Given the description of an element on the screen output the (x, y) to click on. 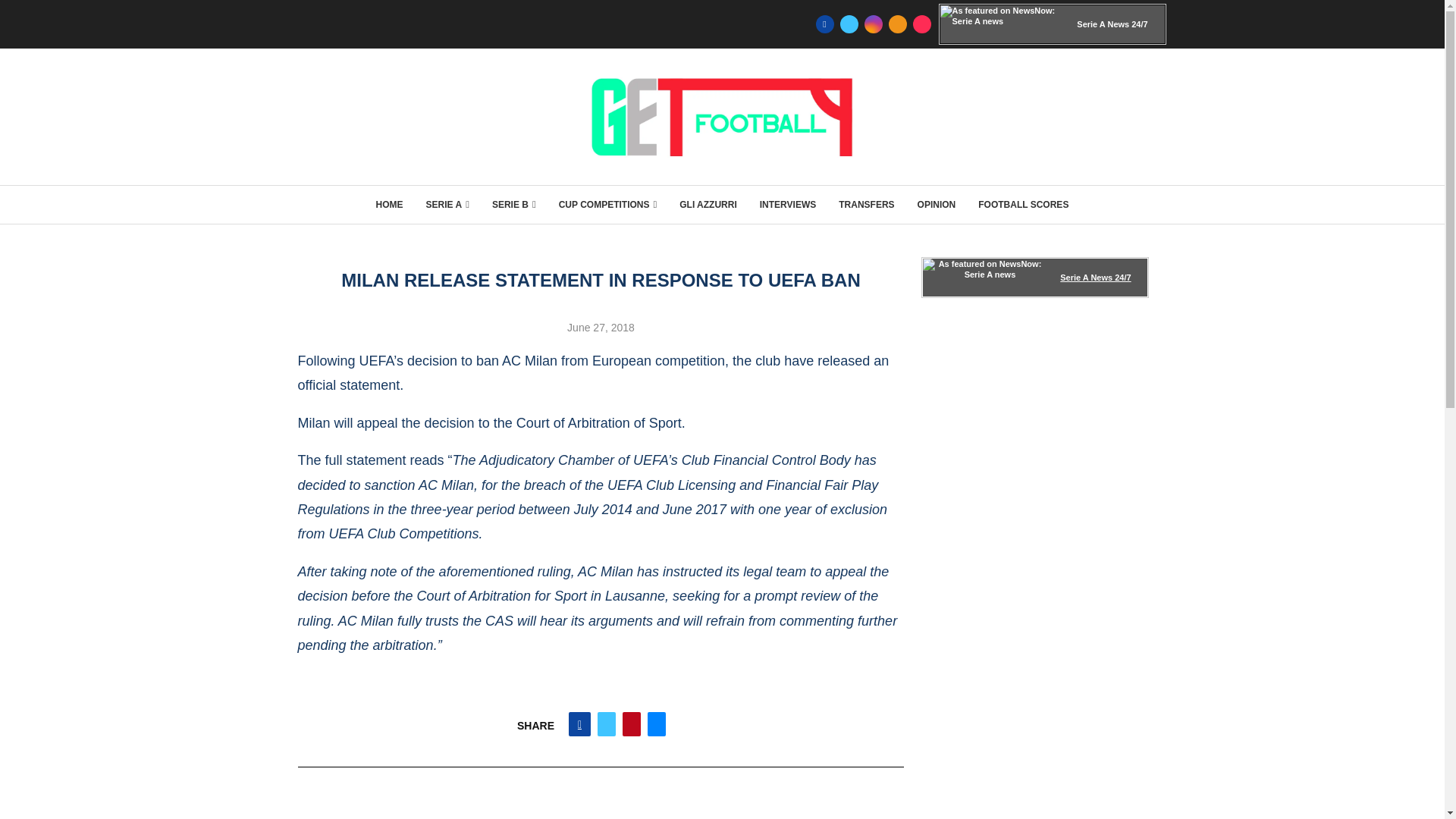
Click here for more Italian football news from NewsNow (1034, 277)
SERIE A (447, 204)
Click here for more Italian football news from NewsNow (1052, 24)
SERIE B (513, 204)
HOME (389, 204)
